Given the description of an element on the screen output the (x, y) to click on. 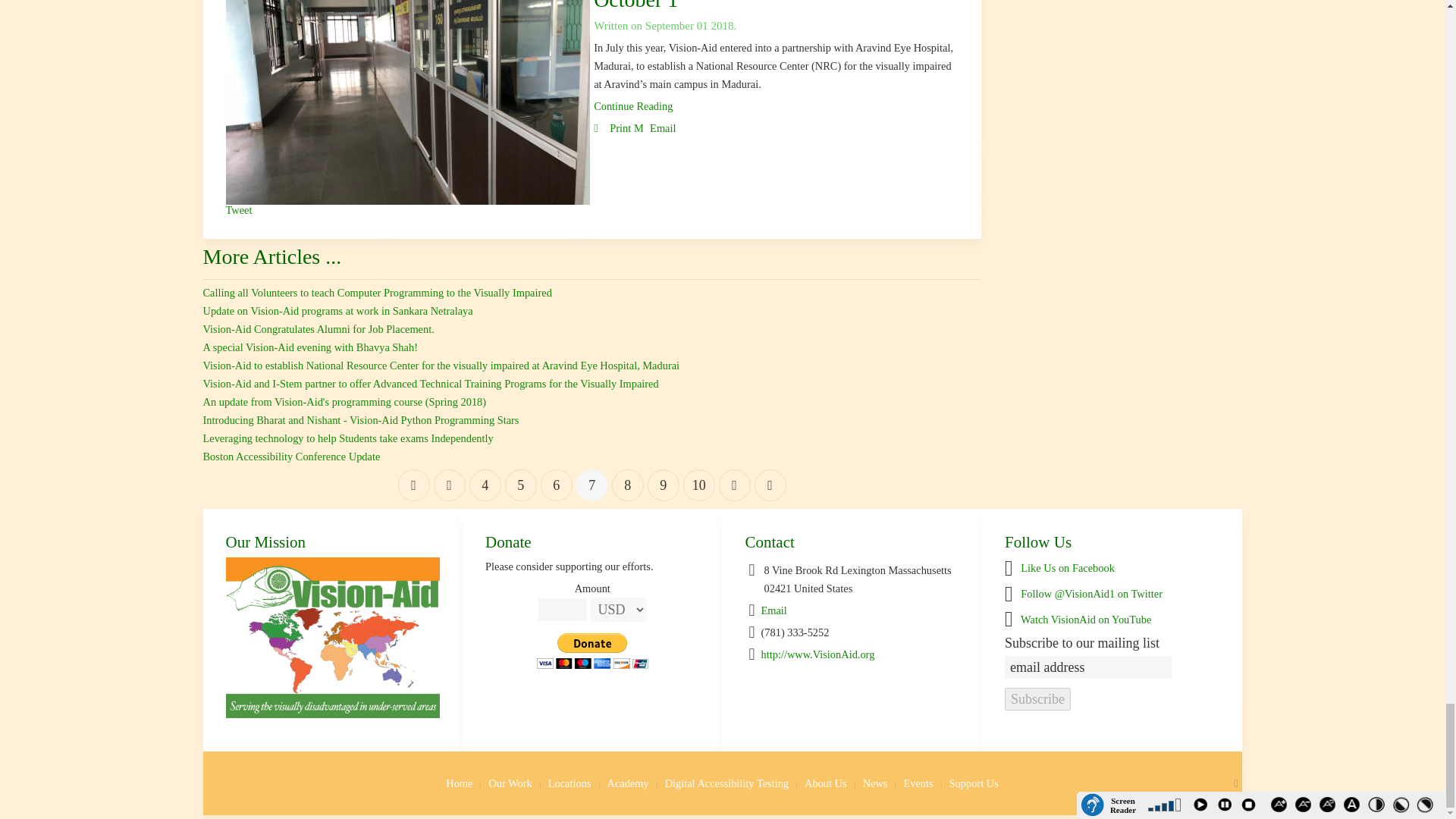
Subscribe (1037, 698)
